Given the description of an element on the screen output the (x, y) to click on. 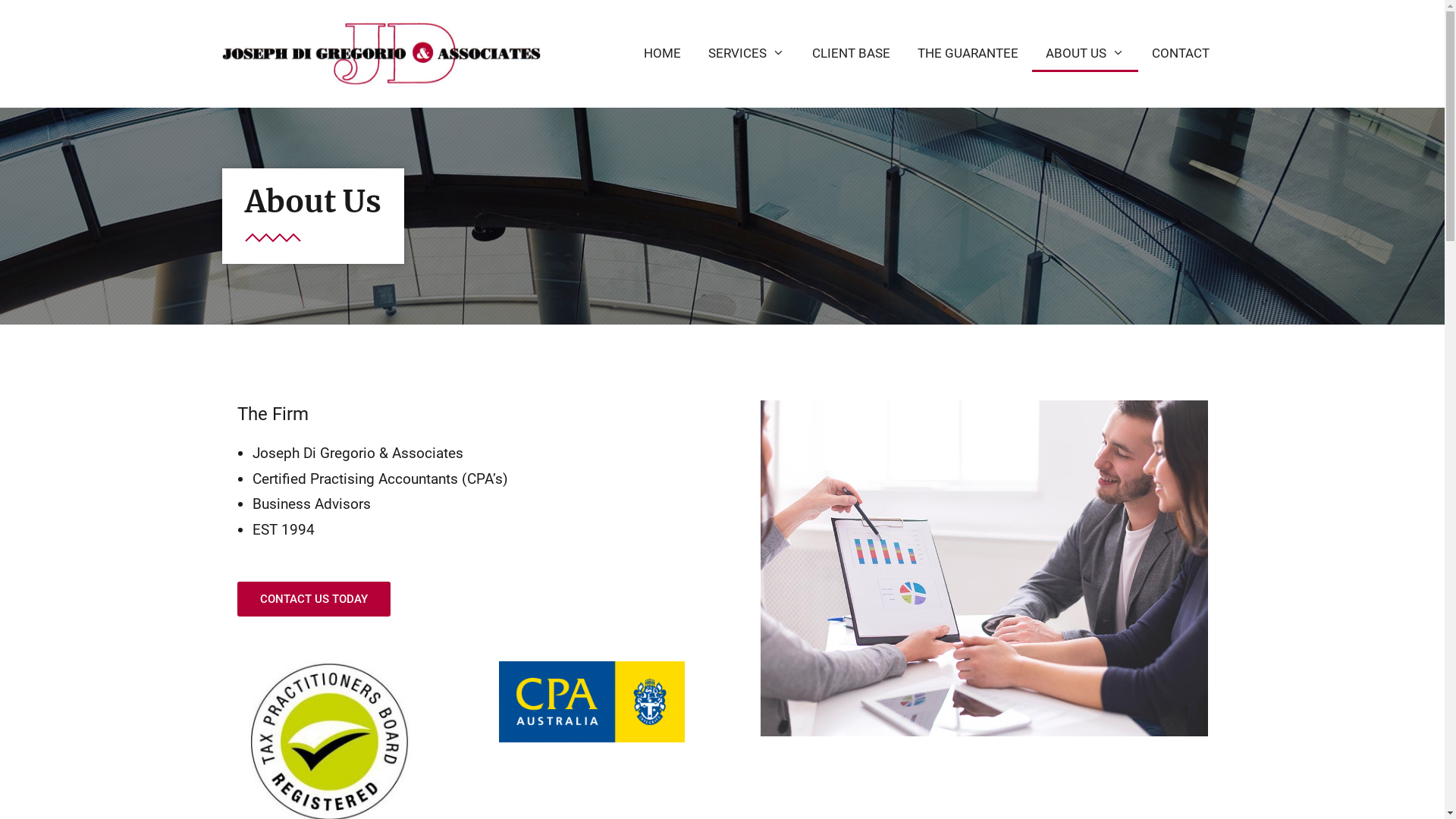
CLIENT BASE Element type: text (850, 53)
CONTACT Element type: text (1179, 53)
THE GUARANTEE Element type: text (967, 53)
SERVICES Element type: text (746, 53)
ABOUT US Element type: text (1085, 53)
CONTACT US TODAY Element type: text (312, 599)
HOME Element type: text (662, 53)
